Given the description of an element on the screen output the (x, y) to click on. 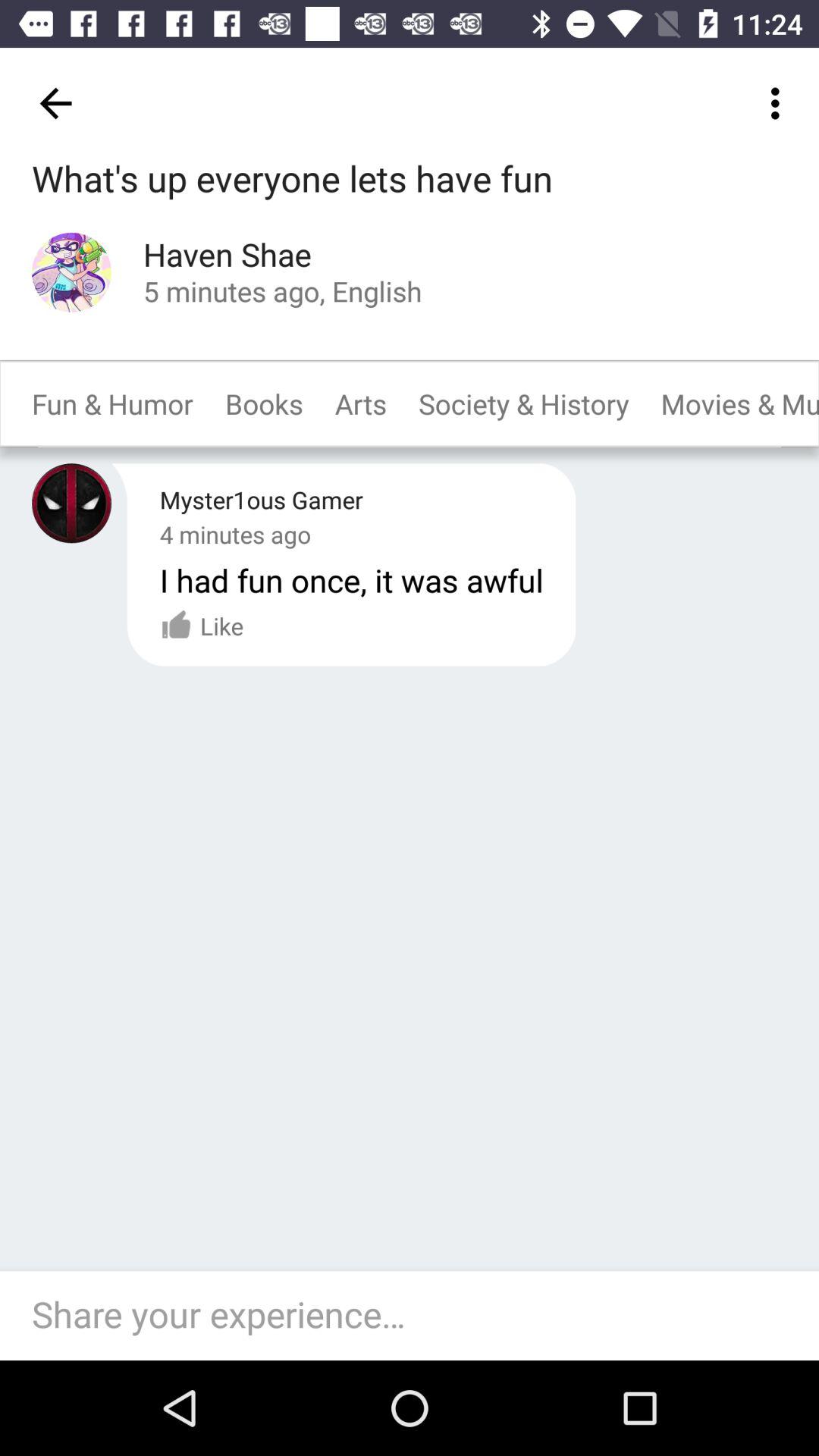
view this persons profile (71, 272)
